Given the description of an element on the screen output the (x, y) to click on. 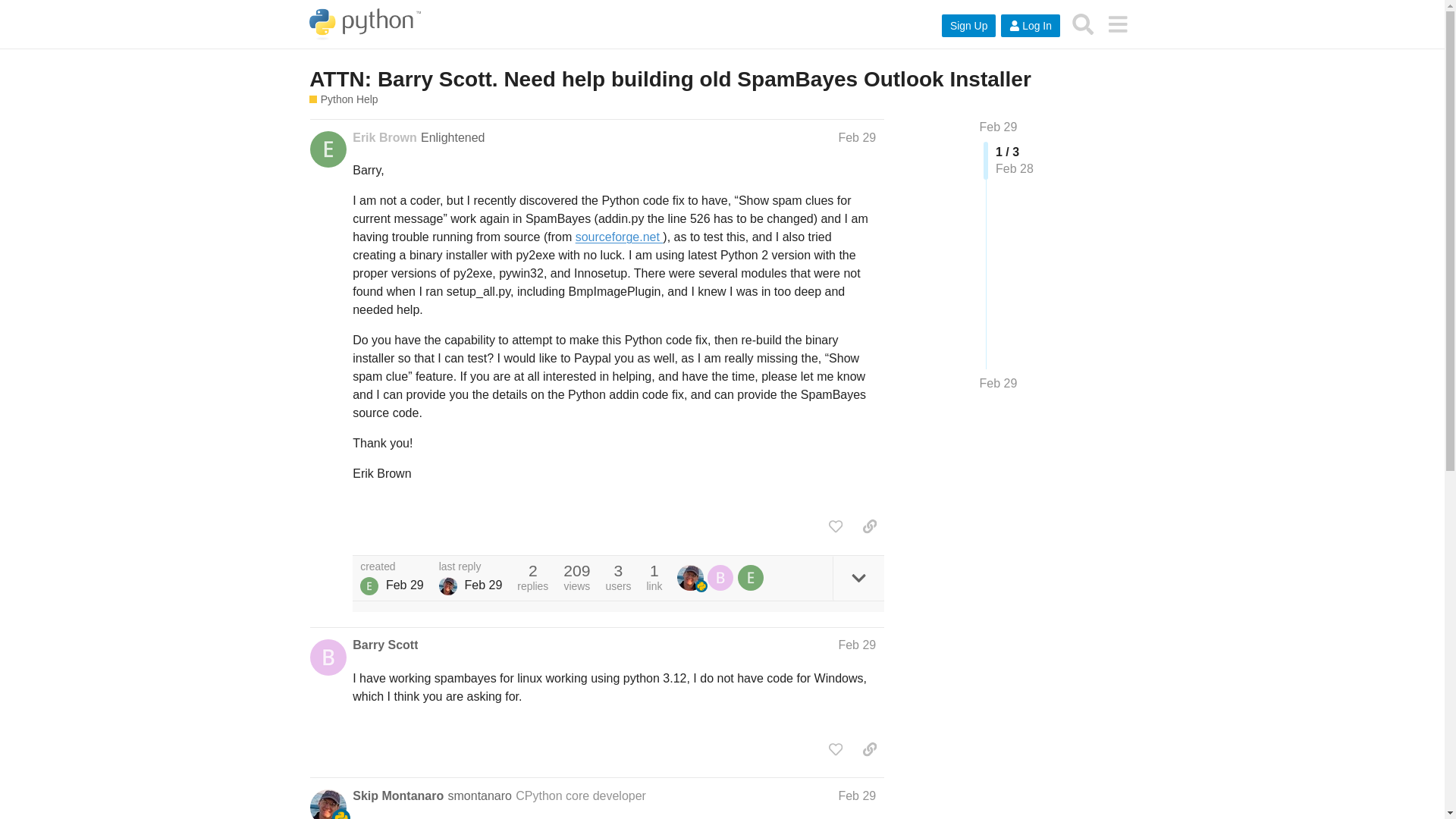
Log In (1030, 25)
Feb 29 (857, 137)
Jump to the first post (998, 126)
Barry Scott (384, 645)
Erik Brown (368, 586)
Feb 29 (998, 126)
Sign Up (968, 25)
CPython core developer (580, 795)
Feb 29 (857, 795)
sourceforge.net (619, 236)
Erik Brown (384, 137)
Post date (857, 137)
Skip Montanaro (398, 795)
expand topic details (857, 578)
